Given the description of an element on the screen output the (x, y) to click on. 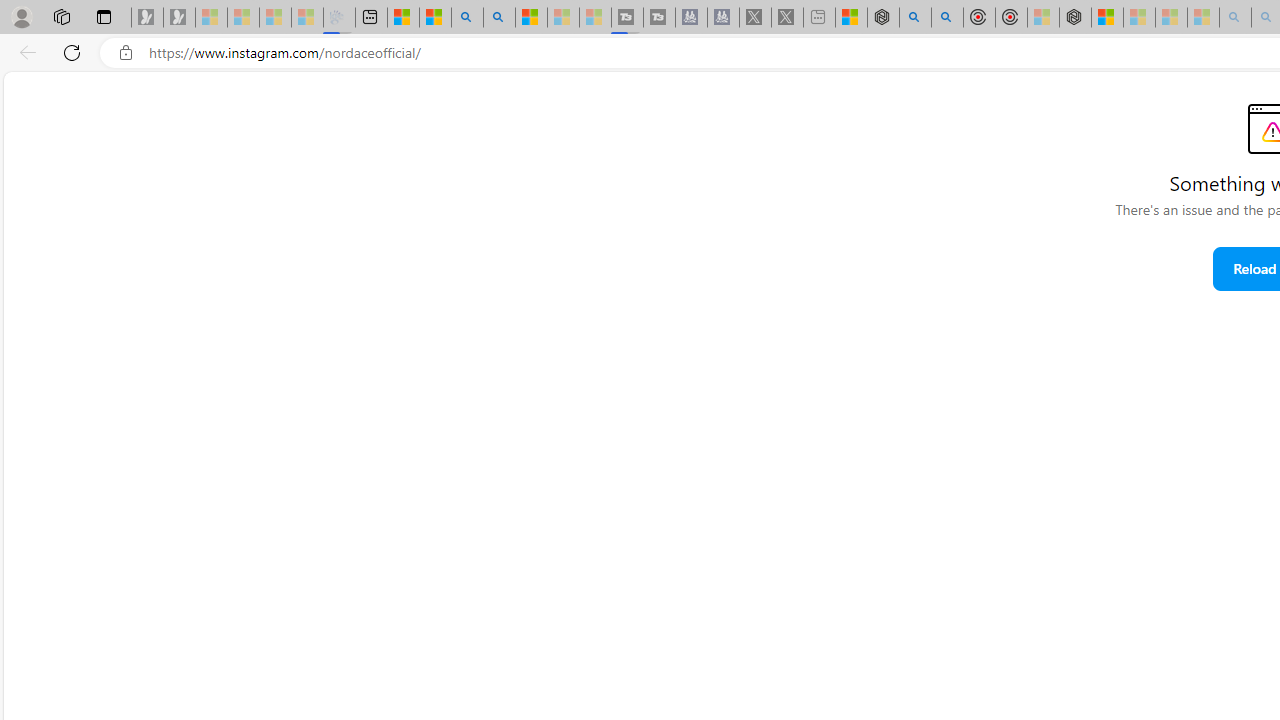
amazon - Search - Sleeping (1234, 17)
Nordace - Nordace Siena Is Not An Ordinary Backpack (1074, 17)
Microsoft Start - Sleeping (562, 17)
Newsletter Sign Up - Sleeping (178, 17)
